Given the description of an element on the screen output the (x, y) to click on. 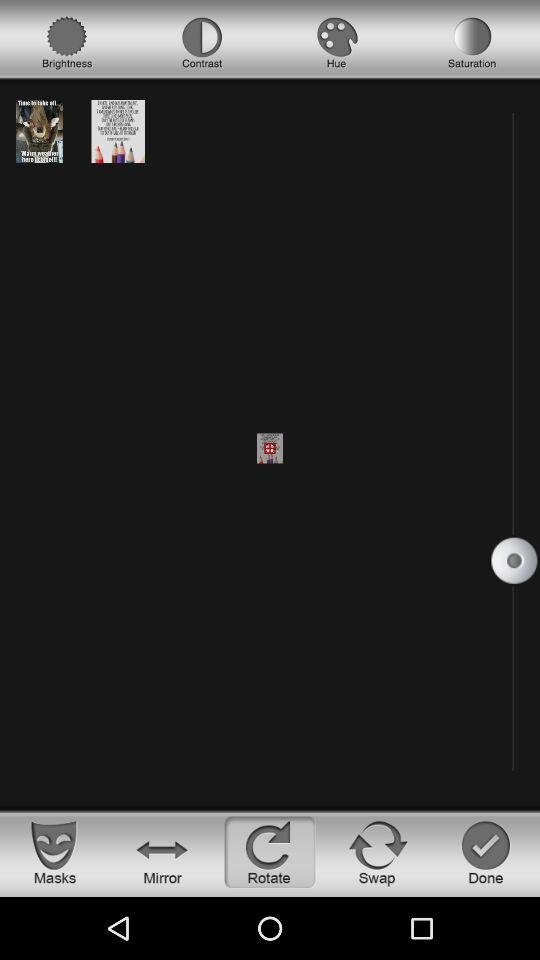
swap option (377, 852)
